Given the description of an element on the screen output the (x, y) to click on. 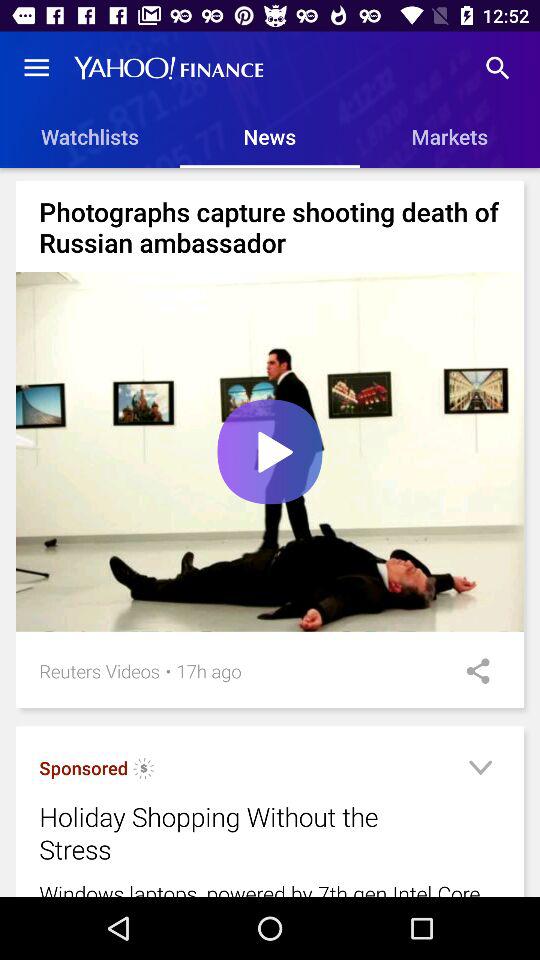
open item above holiday shopping without item (83, 767)
